Given the description of an element on the screen output the (x, y) to click on. 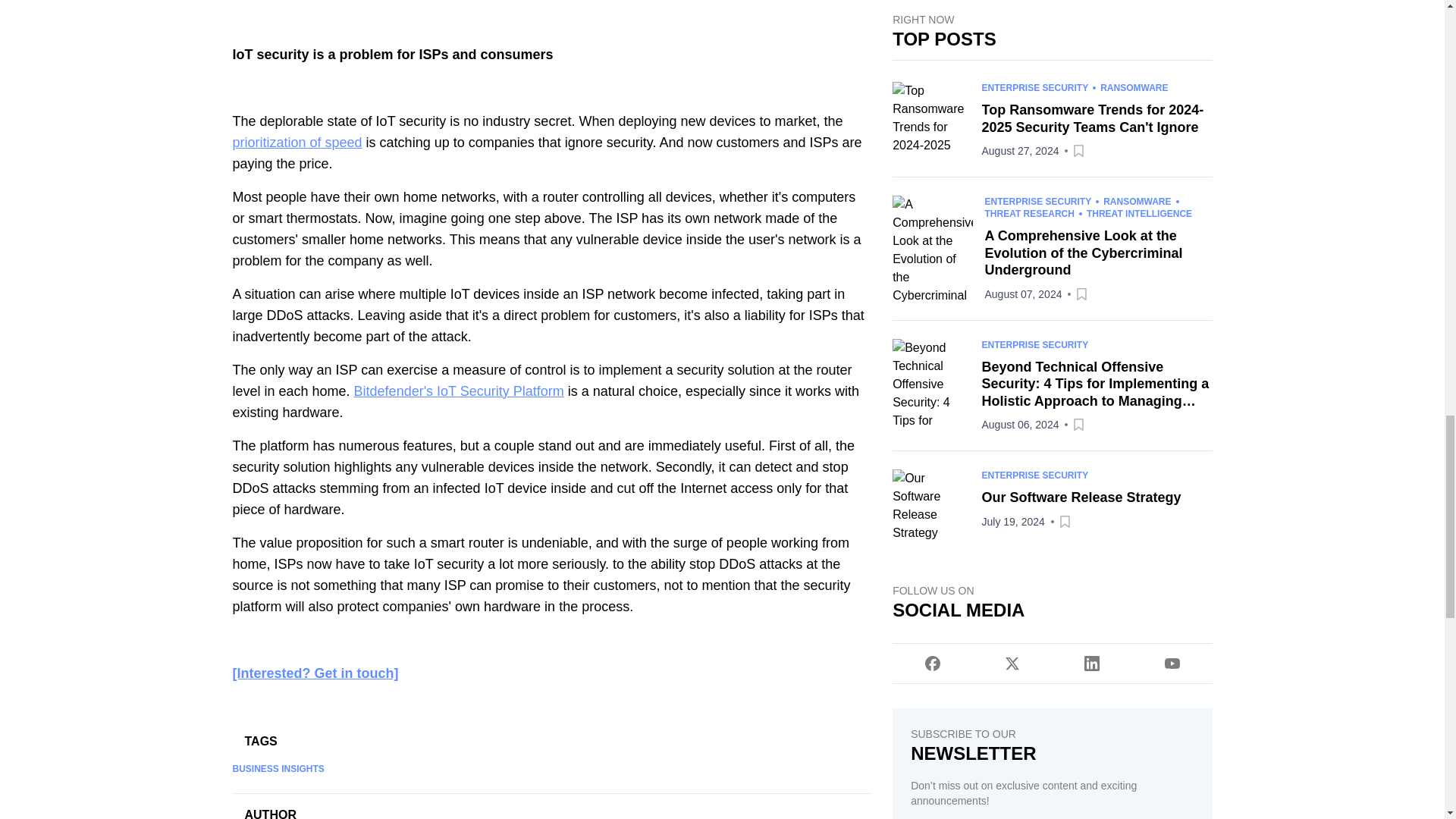
BUSINESS INSIGHTS (277, 768)
Bitdefender's IoT Security Platform (458, 391)
prioritization of speed (296, 142)
